Given the description of an element on the screen output the (x, y) to click on. 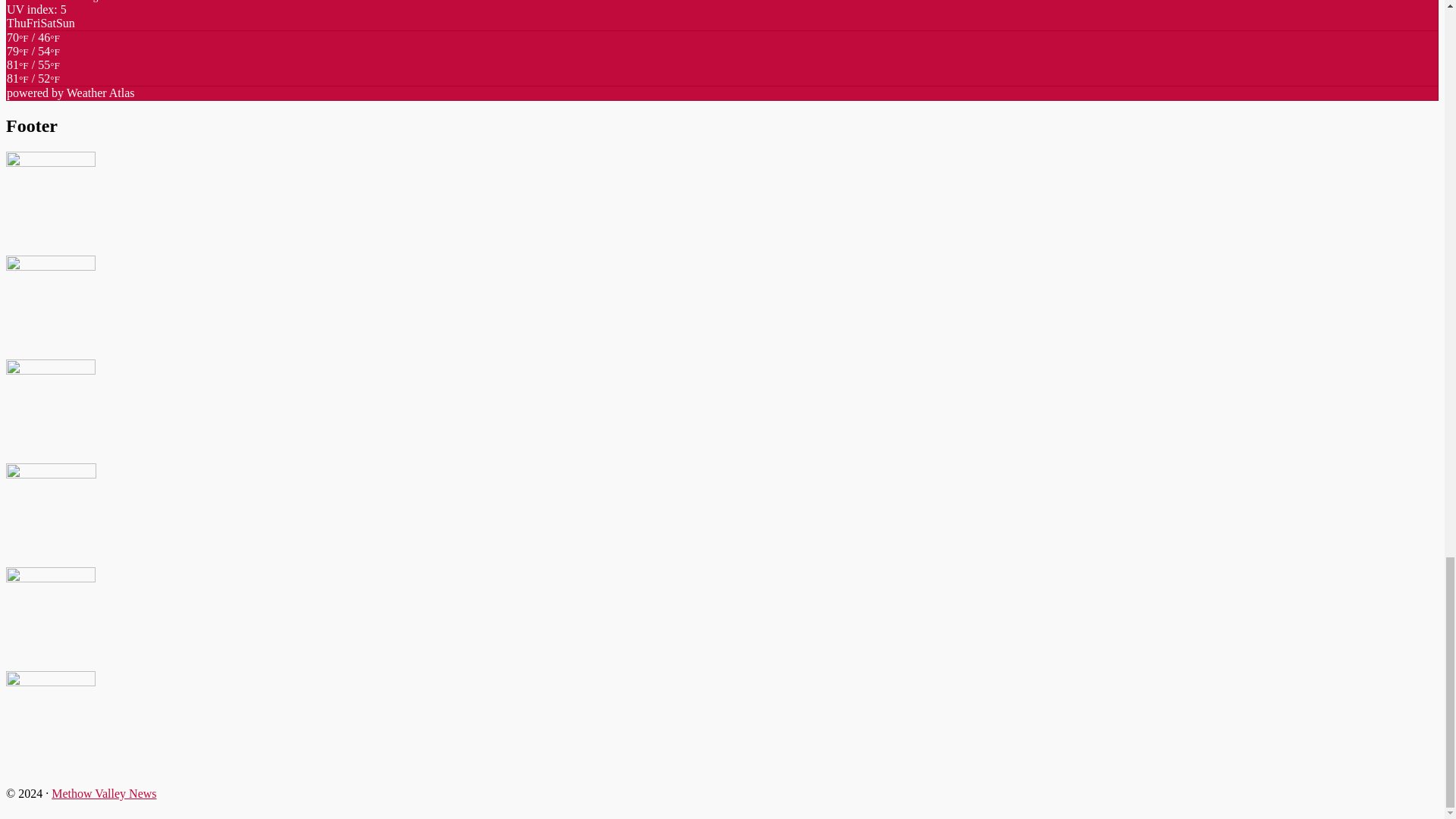
Partly Cloudy (33, 78)
Mostly Cloudy (33, 44)
Mostly Sunny (33, 58)
Cloudy (33, 71)
